Given the description of an element on the screen output the (x, y) to click on. 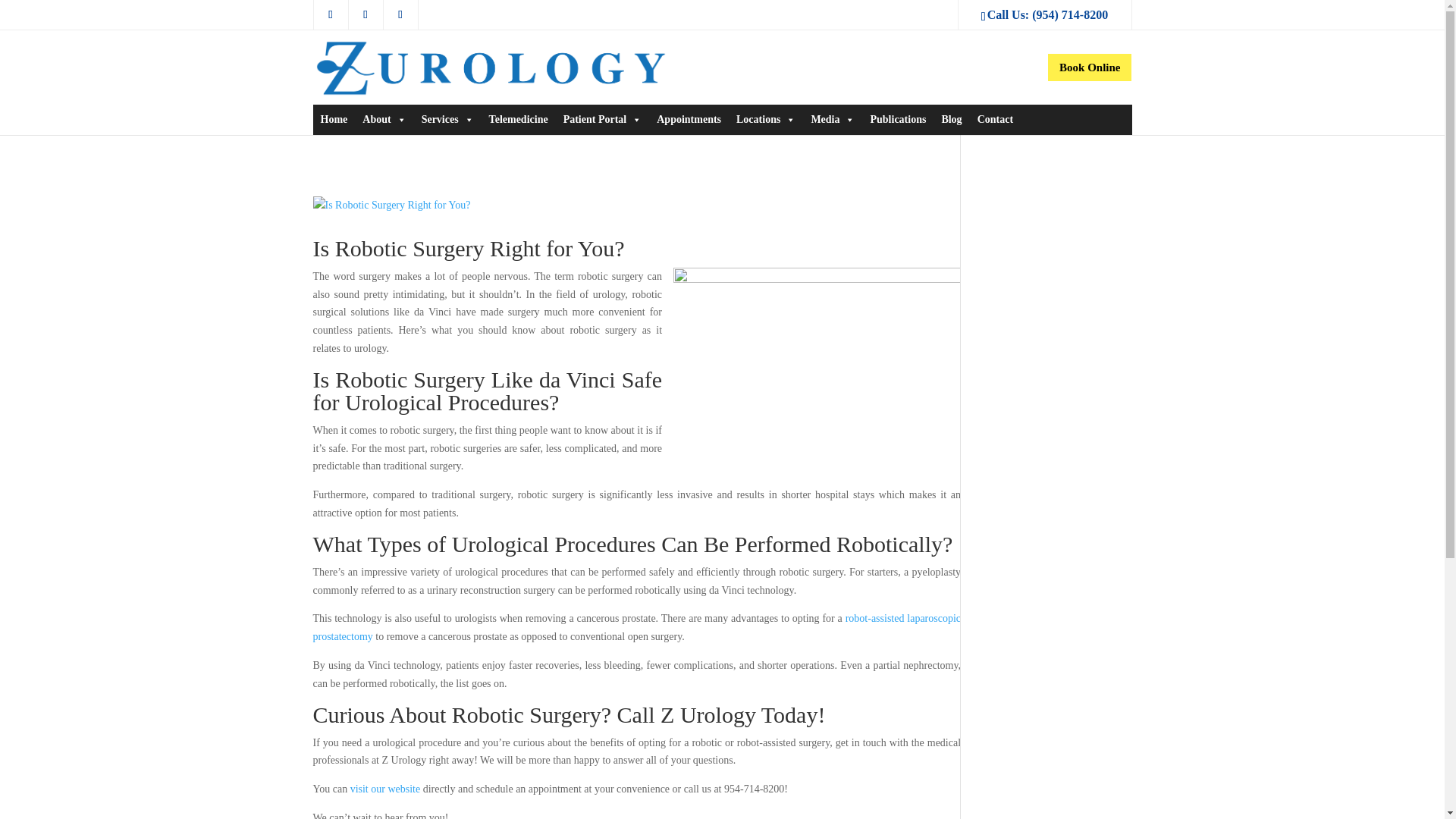
Book Online (1089, 66)
About (384, 119)
Services (447, 119)
Home (334, 119)
